Given the description of an element on the screen output the (x, y) to click on. 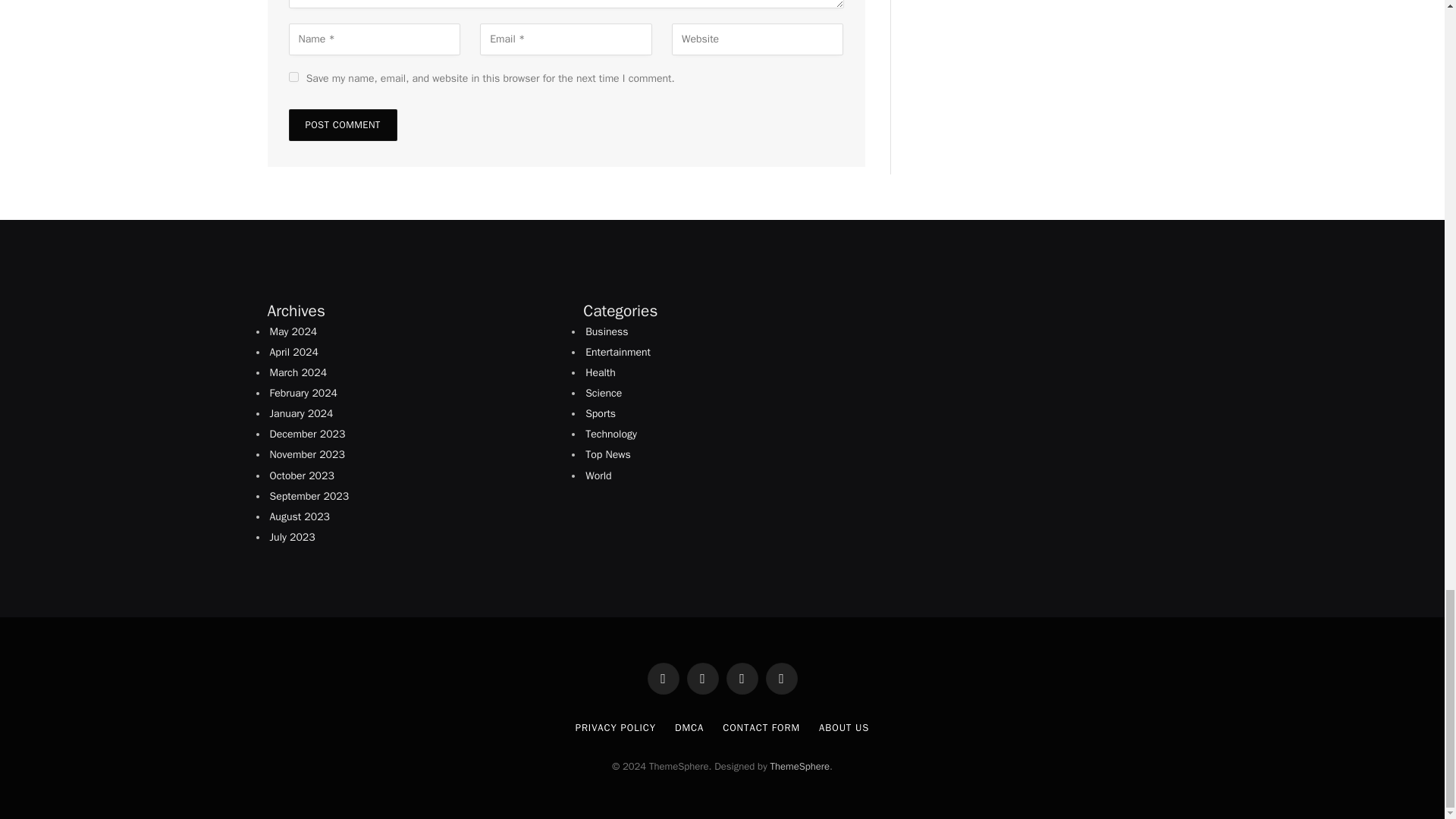
yes (293, 76)
Post Comment (342, 124)
